Given the description of an element on the screen output the (x, y) to click on. 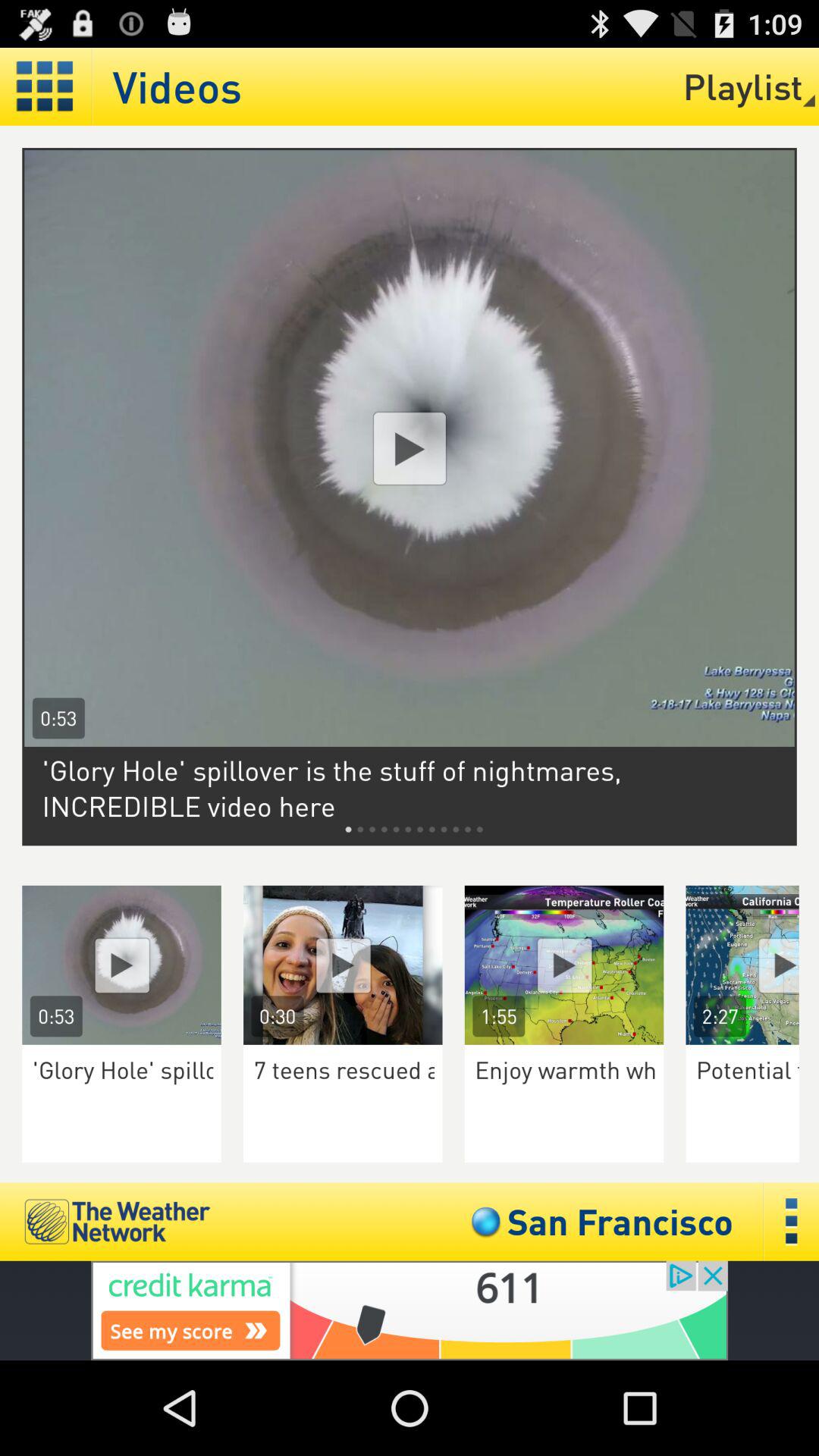
play video (121, 964)
